Given the description of an element on the screen output the (x, y) to click on. 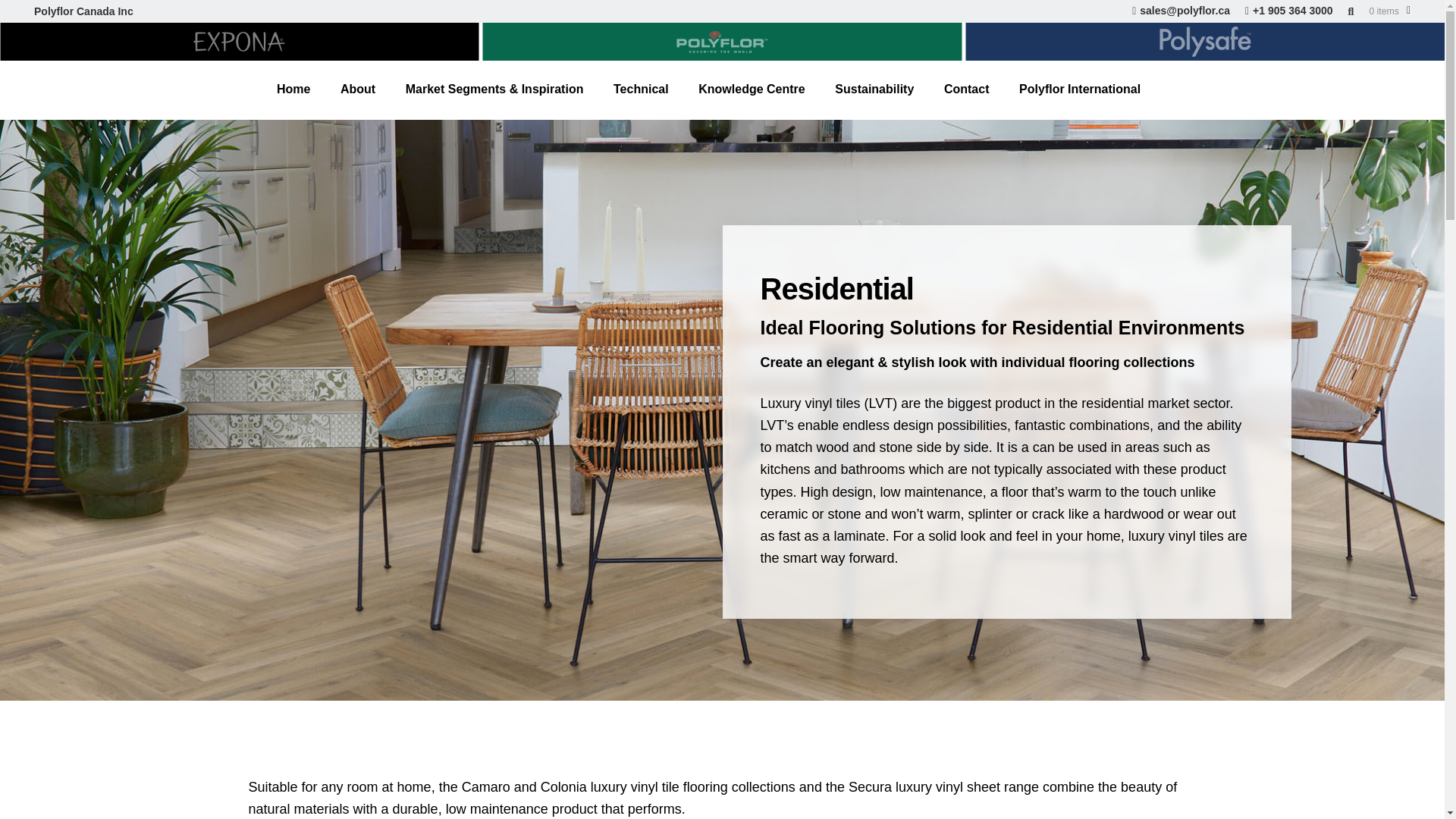
0 items (1389, 10)
View your quotes (1389, 10)
Expona (239, 41)
Polyflor (722, 41)
Polyflor Canada Inc (83, 11)
